Given the description of an element on the screen output the (x, y) to click on. 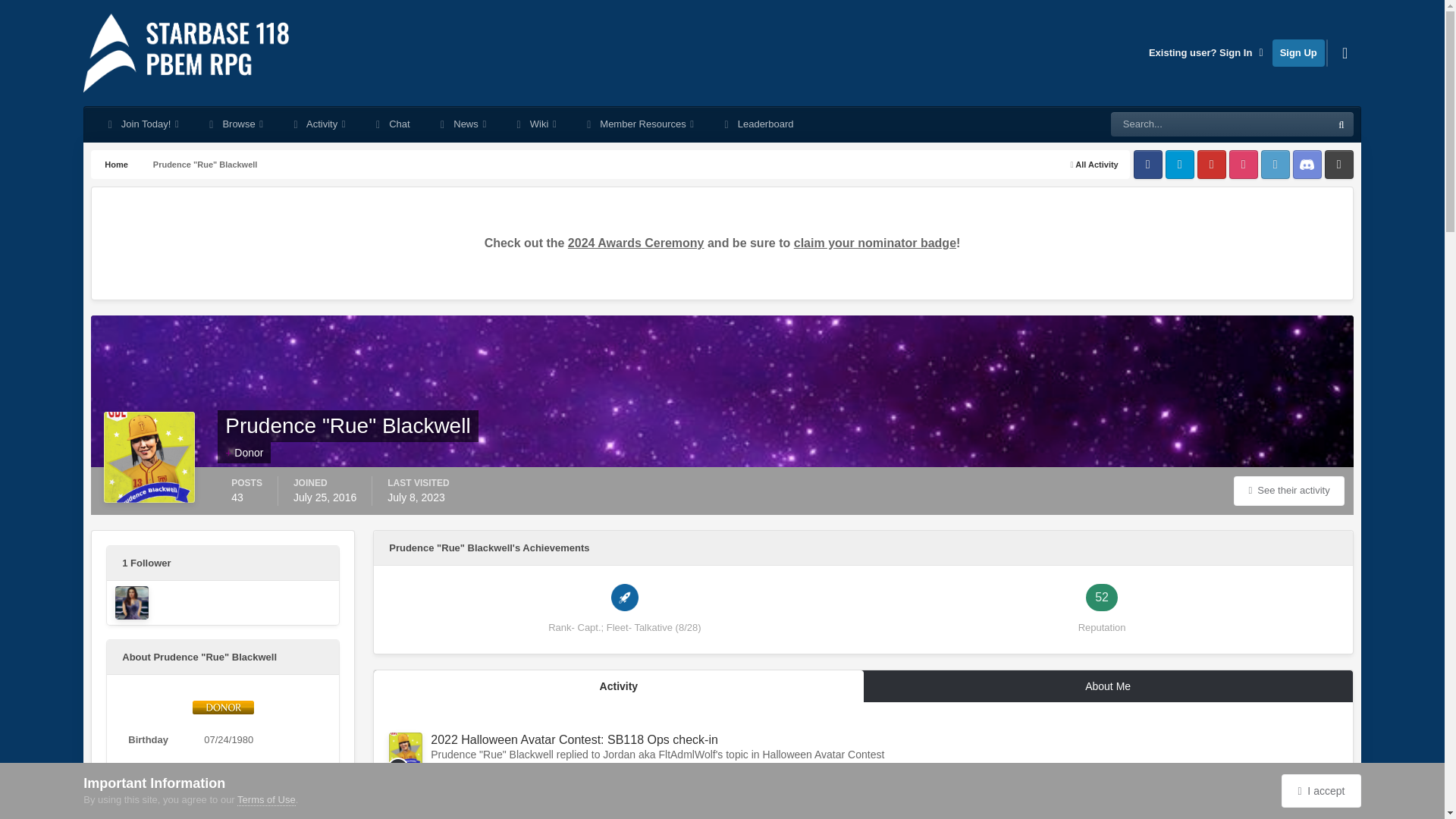
Sign Up (1298, 52)
Home (114, 164)
Customizer (1345, 52)
Browse (234, 124)
Chat (391, 124)
Existing user? Sign In   (1206, 52)
Activity (317, 124)
Alora DeVeau (131, 602)
Join Today! (141, 124)
Prudence "Rue" Blackwell's Content (1288, 490)
Go to Alora DeVeau's profile (131, 602)
News (461, 124)
